Given the description of an element on the screen output the (x, y) to click on. 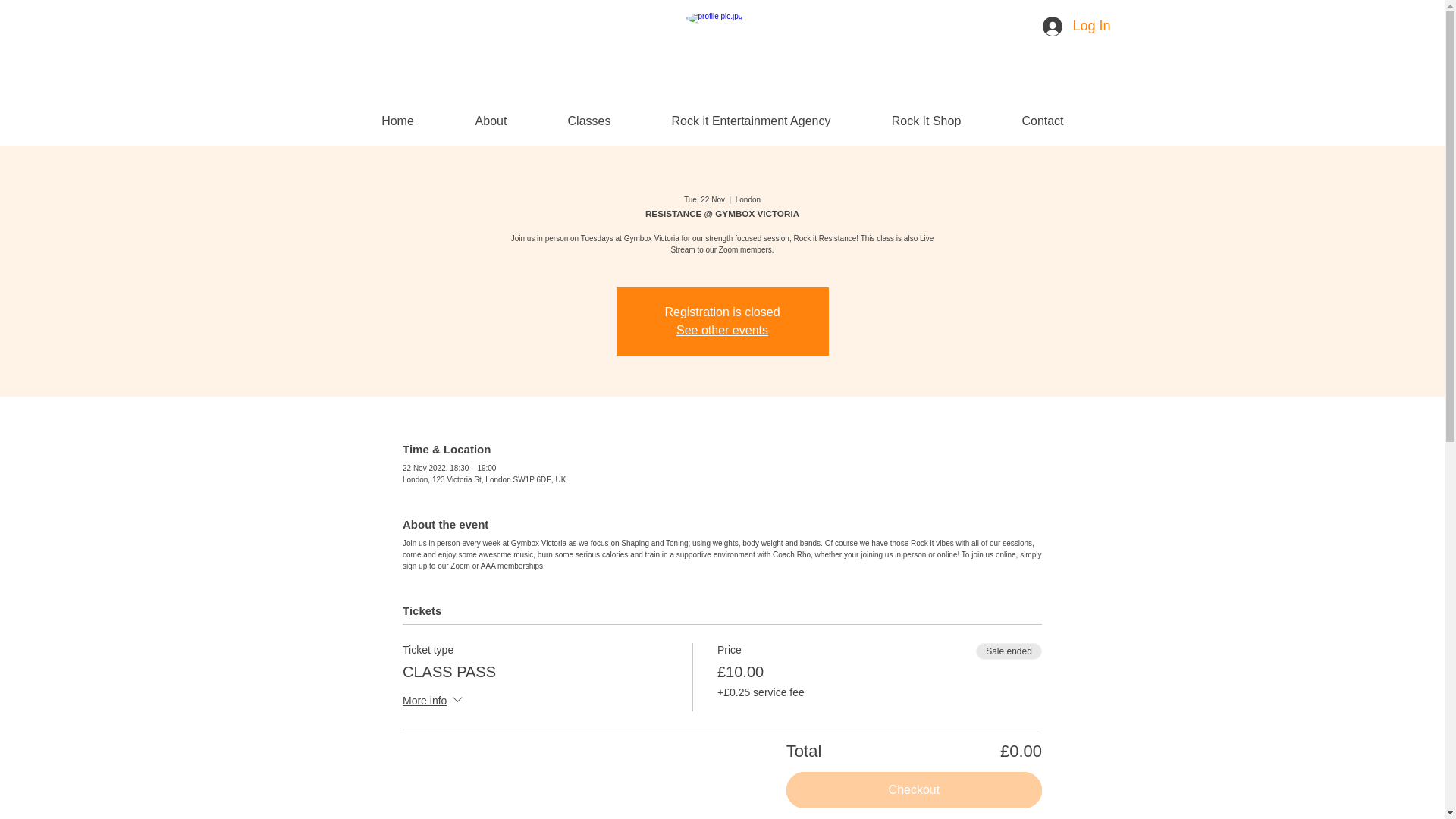
See other events (722, 329)
About (491, 120)
More info (434, 701)
Log In (1061, 26)
Rock it Entertainment Agency (752, 120)
Home (397, 120)
Checkout (914, 790)
Rock It Shop (926, 120)
Classes (591, 120)
Contact (1042, 120)
